Given the description of an element on the screen output the (x, y) to click on. 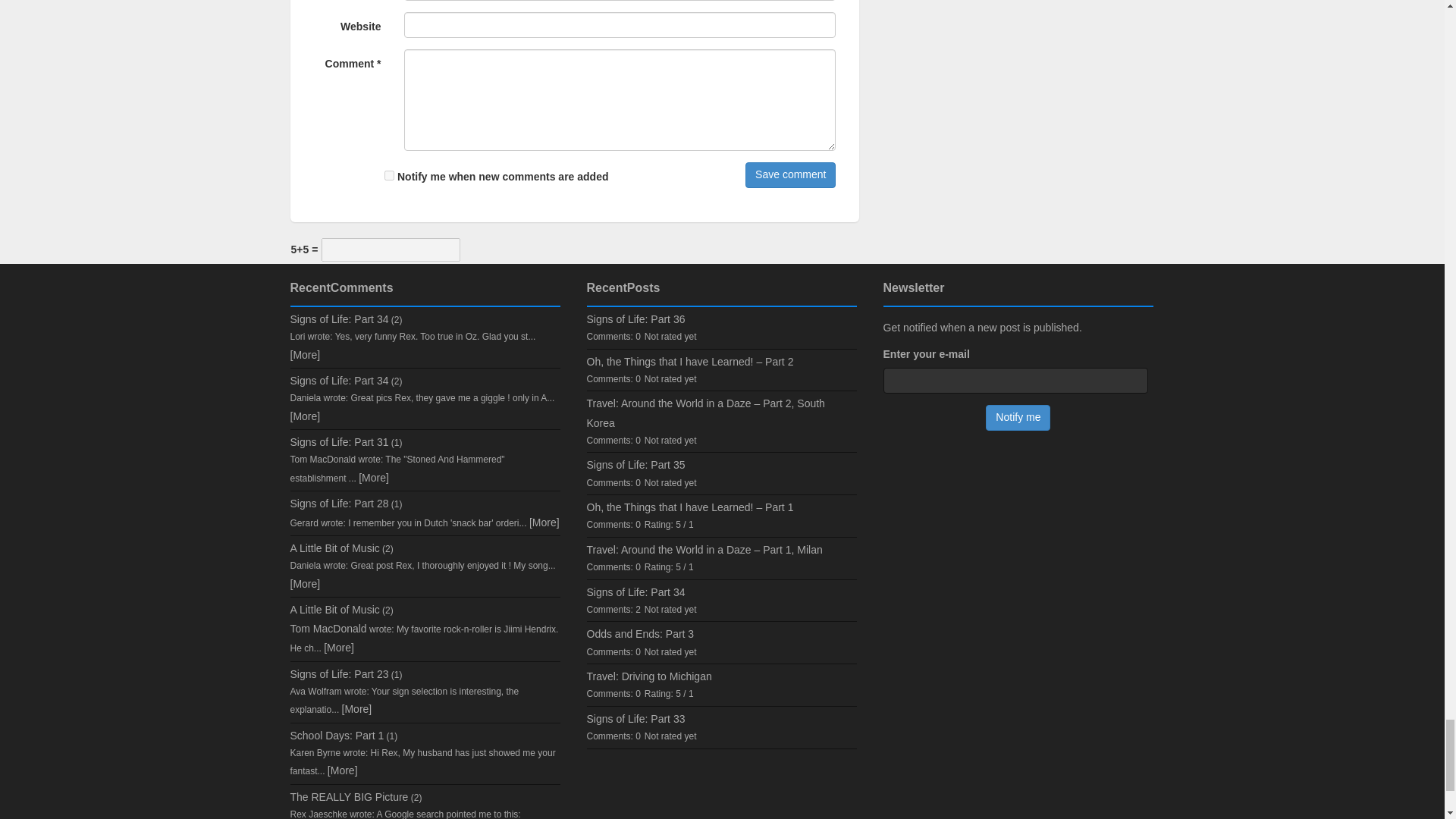
Notify me (1017, 417)
on (389, 175)
Save comment (790, 175)
